Given the description of an element on the screen output the (x, y) to click on. 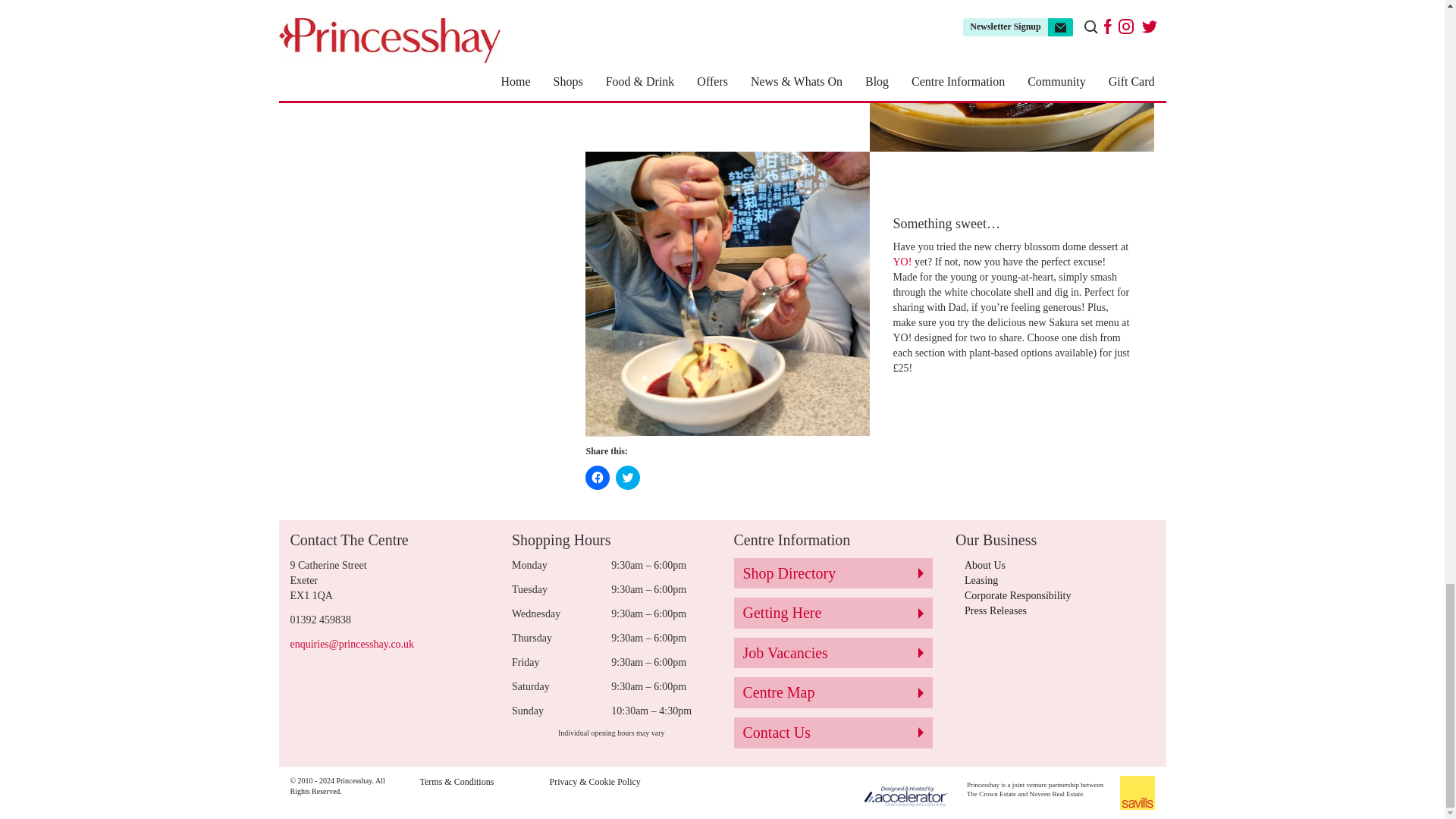
YO! (901, 261)
Click to share on Twitter (627, 477)
Click to share on Facebook (597, 477)
